Given the description of an element on the screen output the (x, y) to click on. 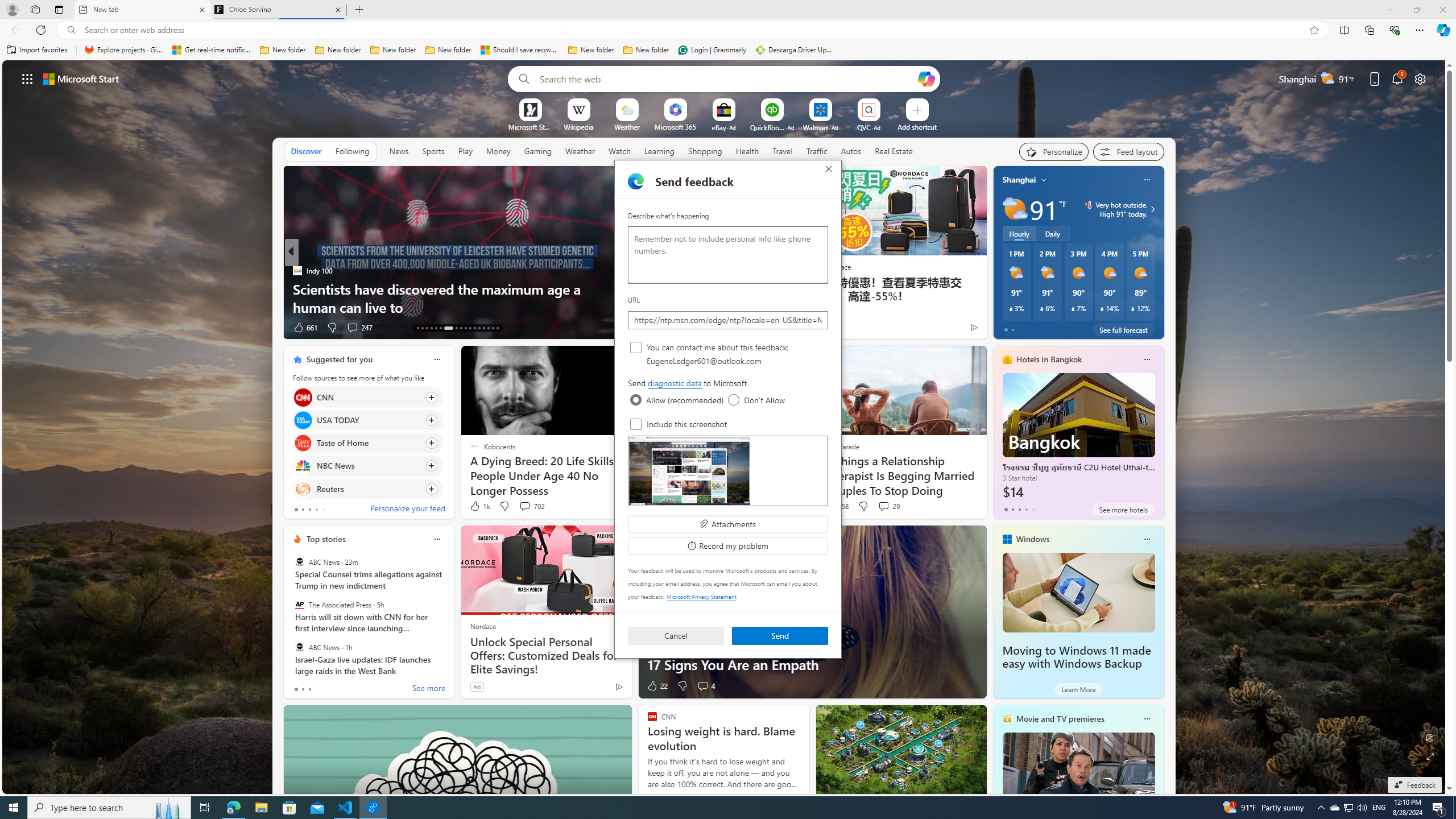
Action Center, 1 new notification (1439, 807)
Moving to Windows 11 made easy with Windows Backup (1077, 592)
Learn More (1078, 689)
Should I save recovered Word documents? - Microsoft Support (519, 49)
Click to follow source Taste of Home (367, 442)
Weather (579, 151)
Indy 100 (296, 270)
Hide this story (597, 359)
AutomationID: tab-39 (483, 328)
See more hotels (1123, 509)
tab-0 (295, 689)
CNN (302, 397)
